Given the description of an element on the screen output the (x, y) to click on. 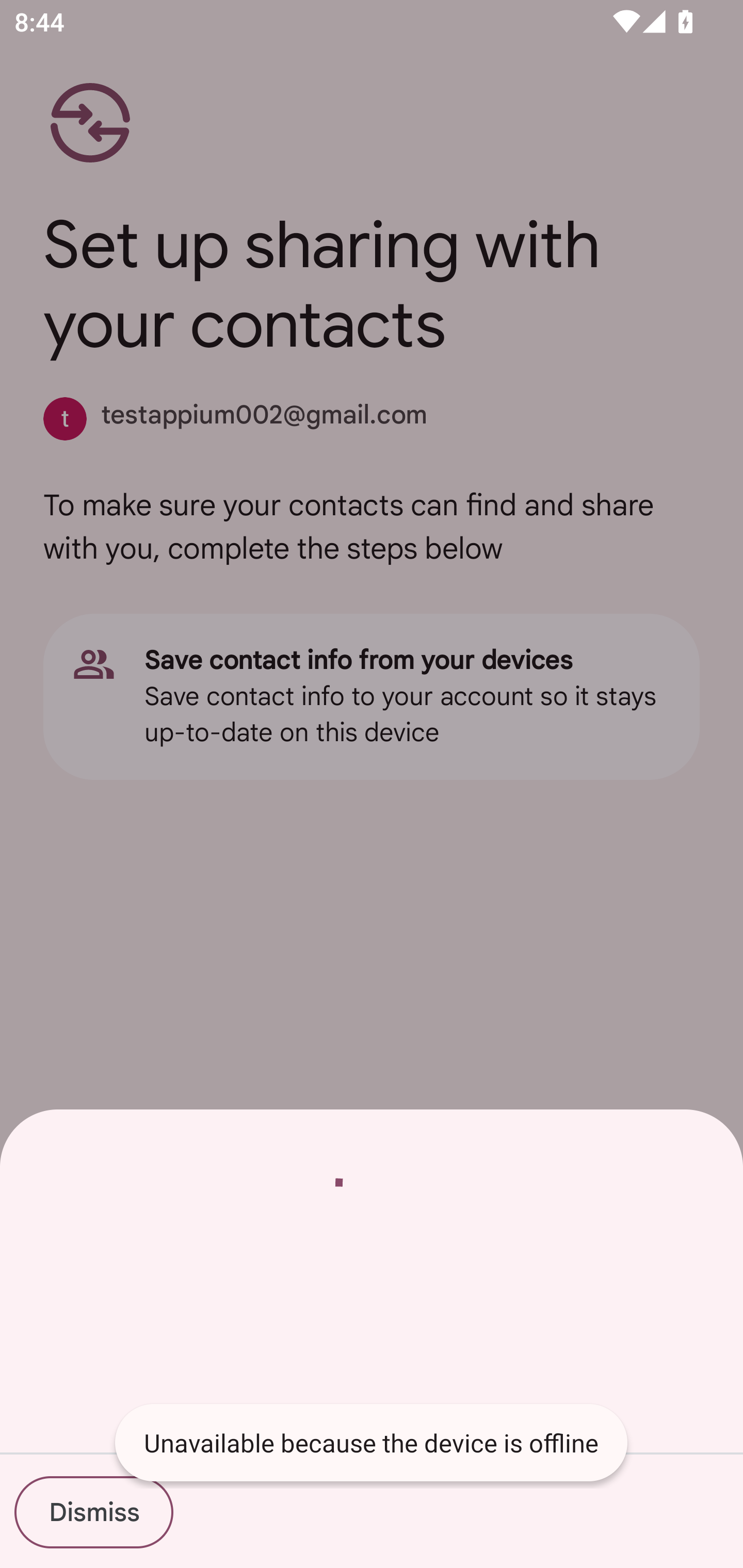
Dismiss (93, 1512)
